Given the description of an element on the screen output the (x, y) to click on. 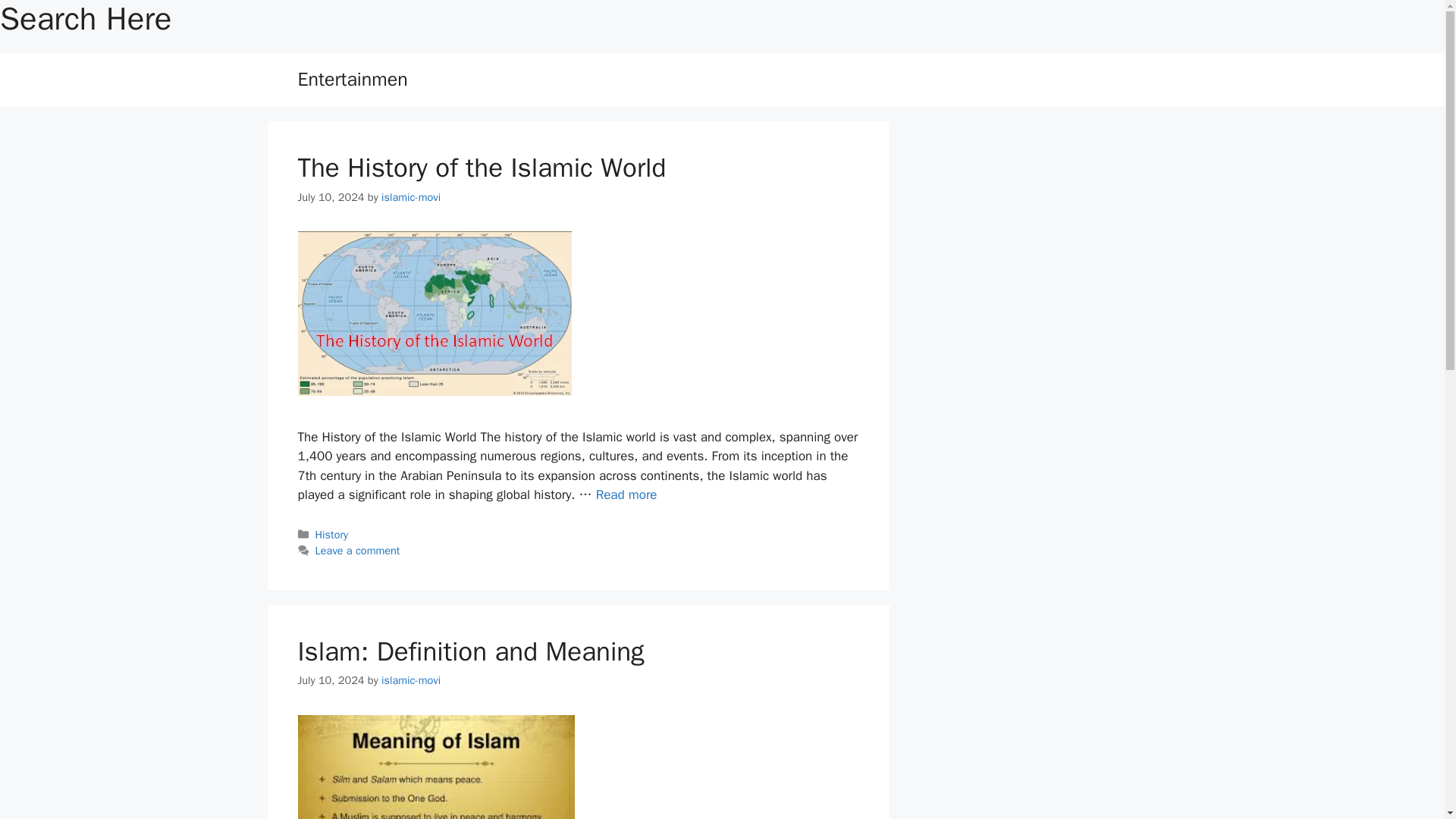
islamic-movi (411, 196)
History (332, 534)
Entertainmen (352, 78)
islamic-movi (411, 680)
The History of the Islamic World (481, 167)
The History of the Islamic World (626, 494)
Islam: Definition and Meaning (470, 651)
View all posts by islamic-movi (411, 196)
View all posts by islamic-movi (411, 680)
Read more (626, 494)
